Given the description of an element on the screen output the (x, y) to click on. 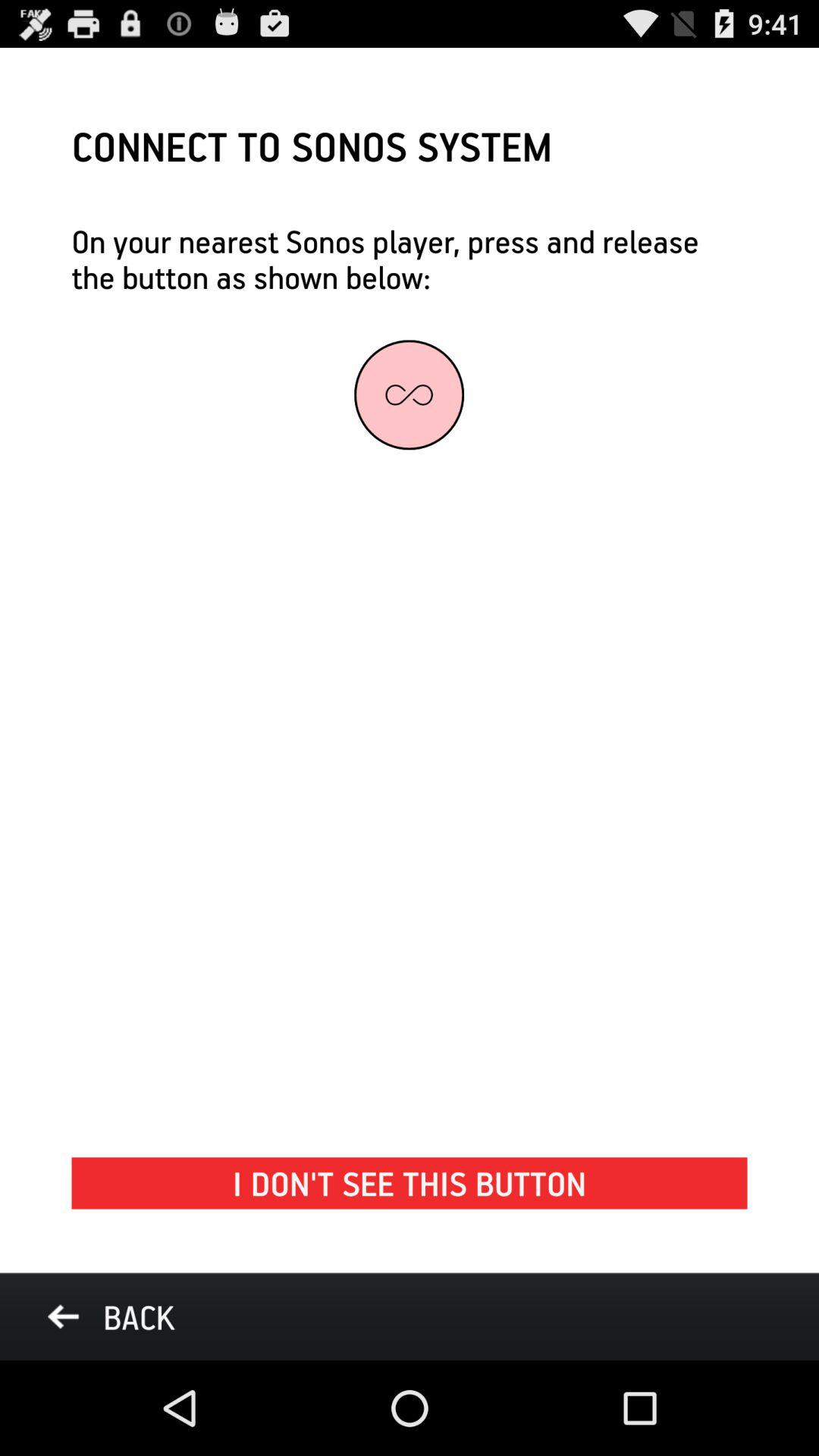
scroll until the back item (111, 1316)
